Given the description of an element on the screen output the (x, y) to click on. 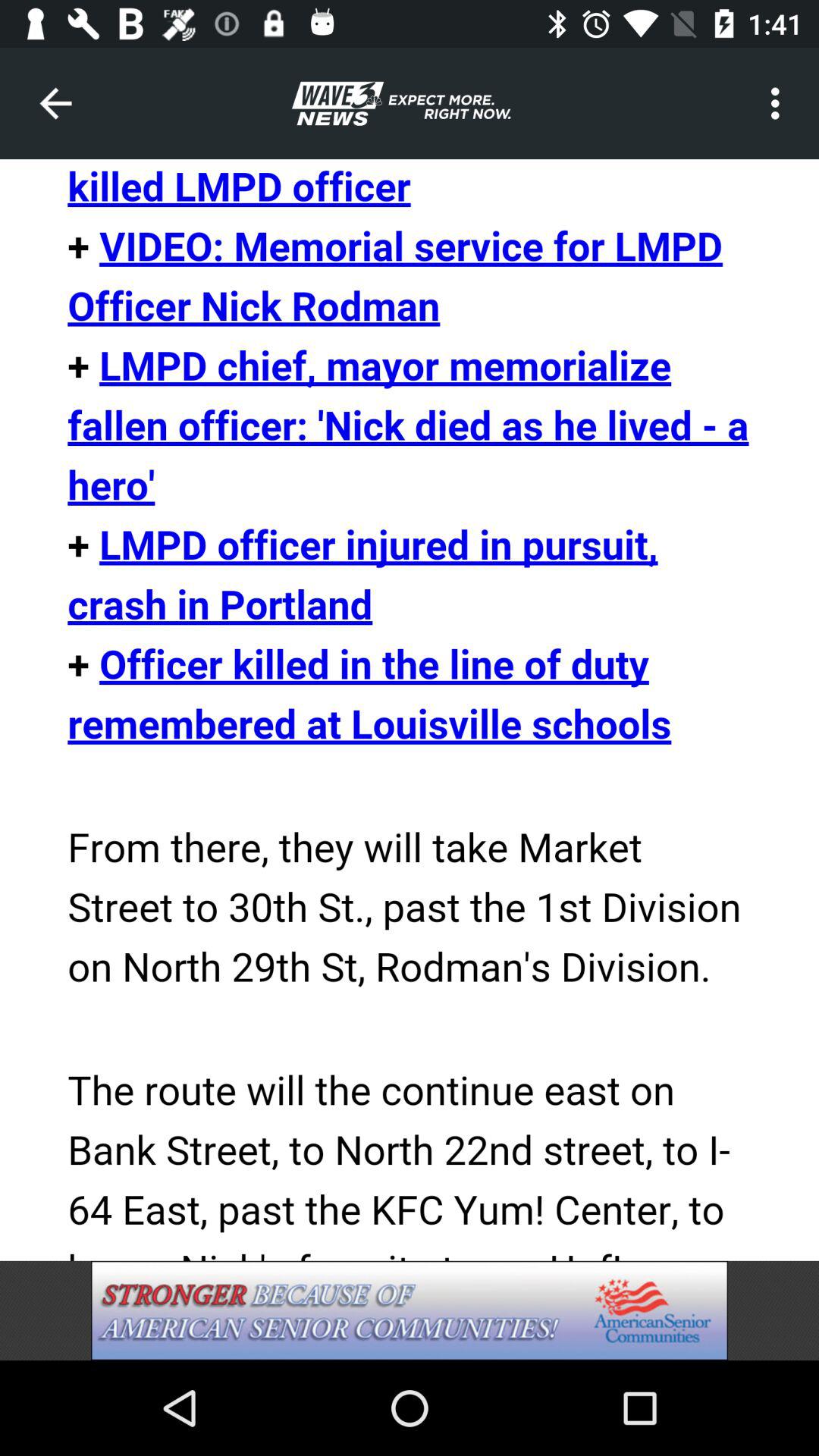
advertisement page (409, 1310)
